Given the description of an element on the screen output the (x, y) to click on. 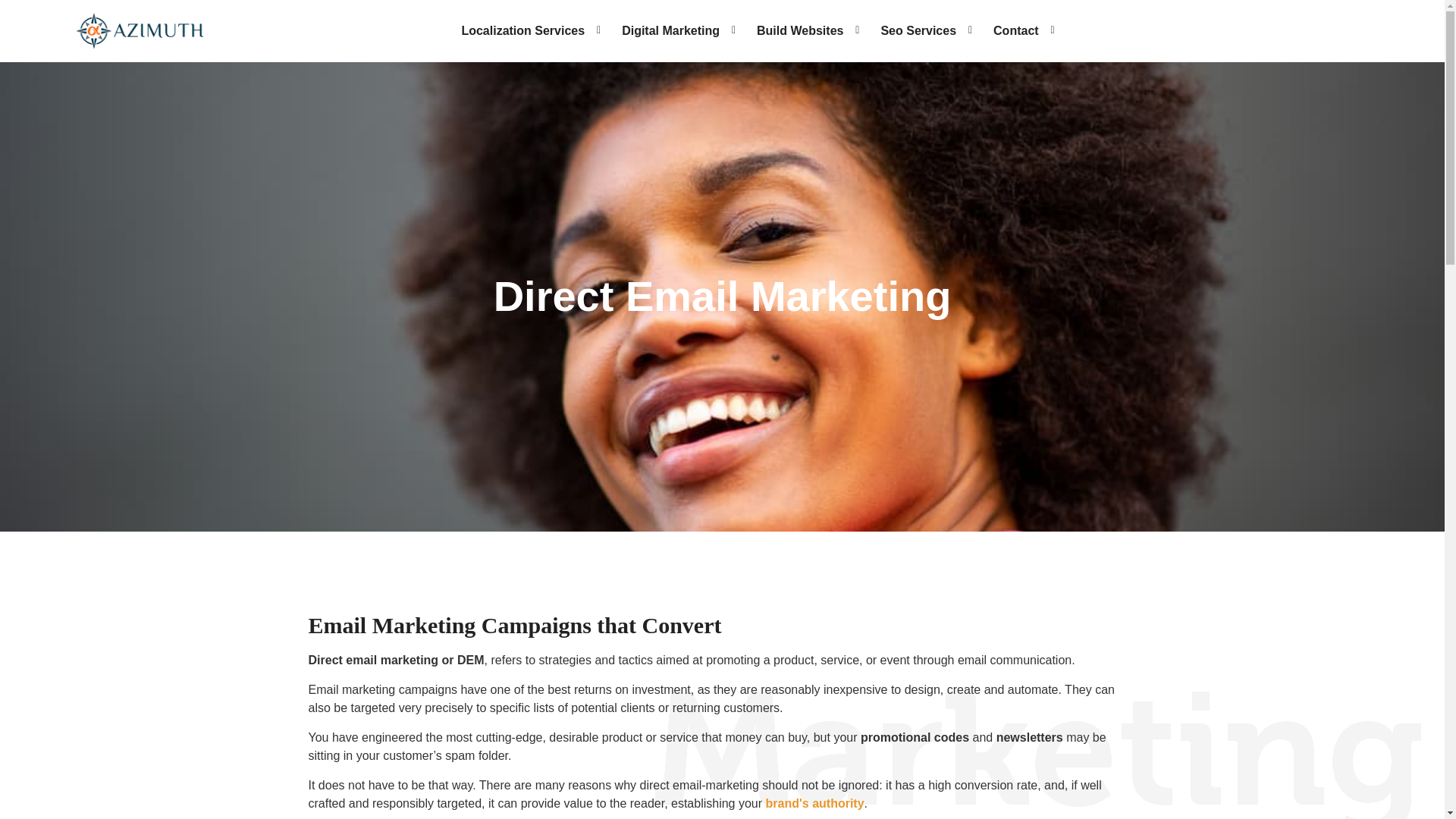
Localization Services (524, 33)
Seo Services (920, 33)
Digital Marketing (672, 33)
Build Websites (802, 33)
Contact (1017, 33)
